Given the description of an element on the screen output the (x, y) to click on. 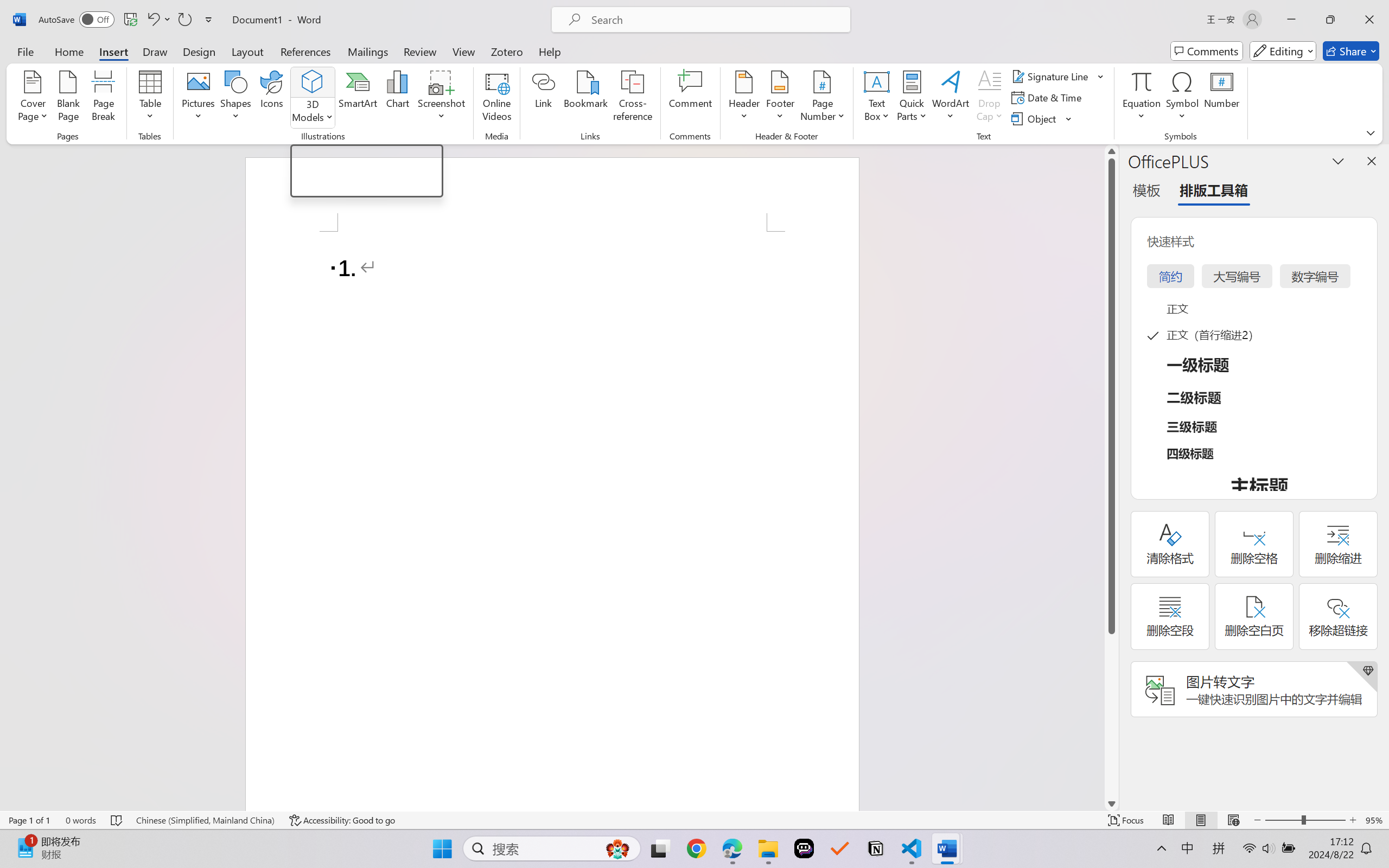
Page Number (822, 97)
Table (149, 97)
Microsoft search (715, 19)
Blank Page (67, 97)
Header (743, 97)
